Given the description of an element on the screen output the (x, y) to click on. 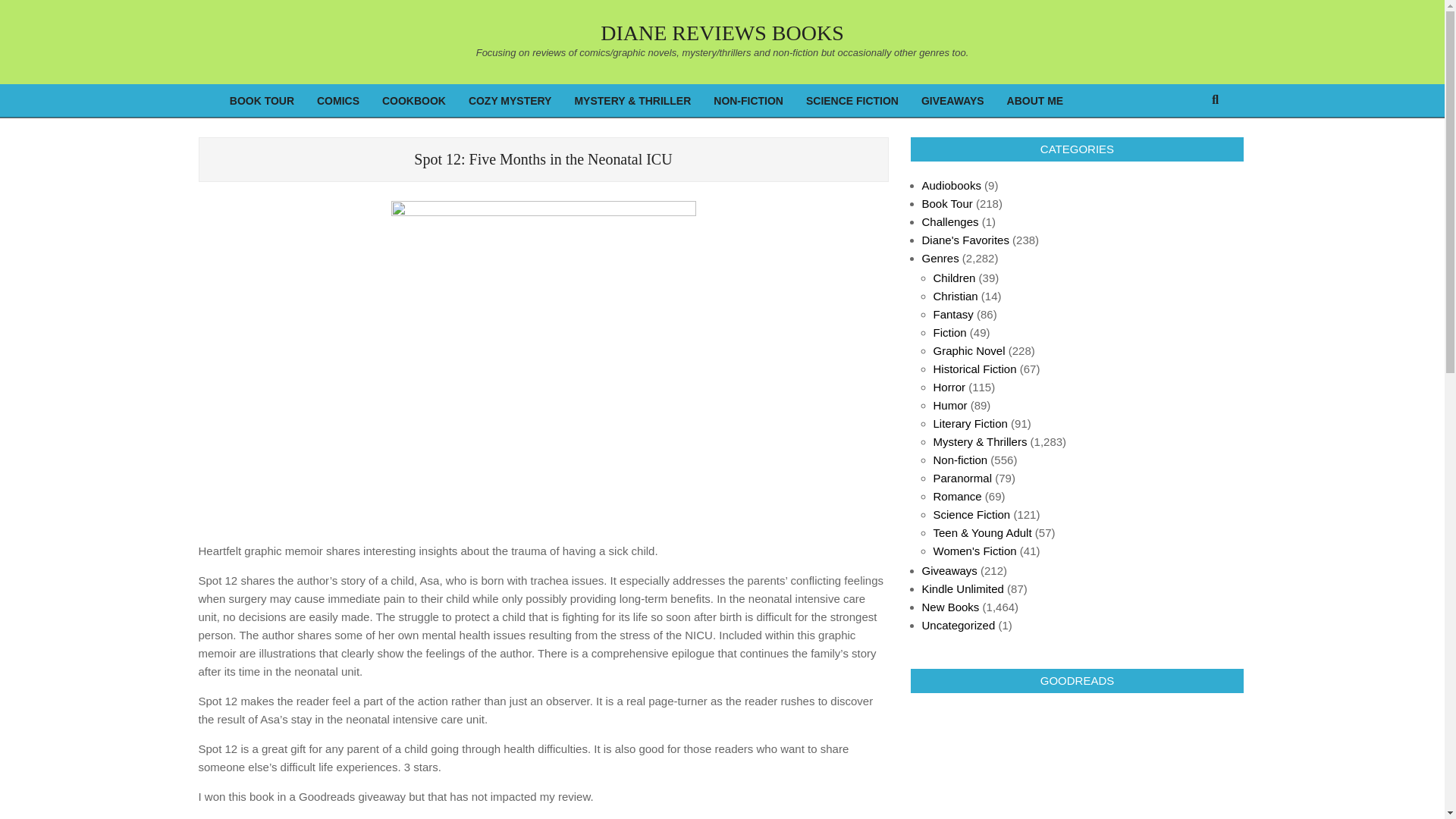
COMICS (338, 101)
Graphic Novel (968, 350)
Book Tour (946, 203)
Genres (940, 257)
Search (21, 8)
Literary Fiction (970, 422)
BOOK TOUR (261, 101)
Diane's Favorites (965, 239)
NON-FICTION (747, 101)
DIANE REVIEWS BOOKS (721, 33)
